Given the description of an element on the screen output the (x, y) to click on. 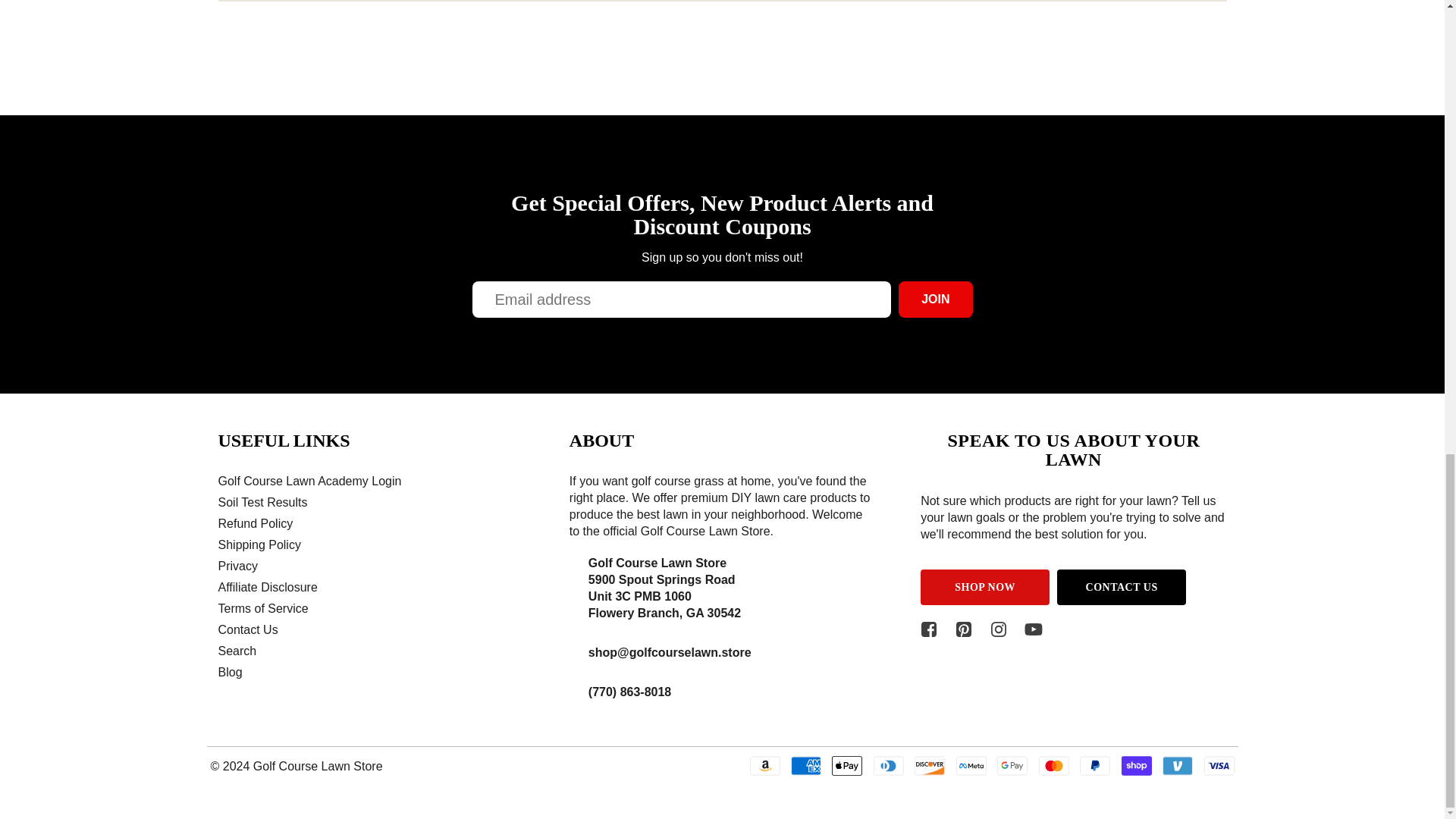
Amazon (764, 765)
Discover (929, 765)
Mastercard (1053, 765)
Shop Pay (1136, 765)
Diners Club (888, 765)
Meta Pay (971, 765)
Apple Pay (846, 765)
Google Pay (1012, 765)
American Express (805, 765)
PayPal (1094, 765)
